Given the description of an element on the screen output the (x, y) to click on. 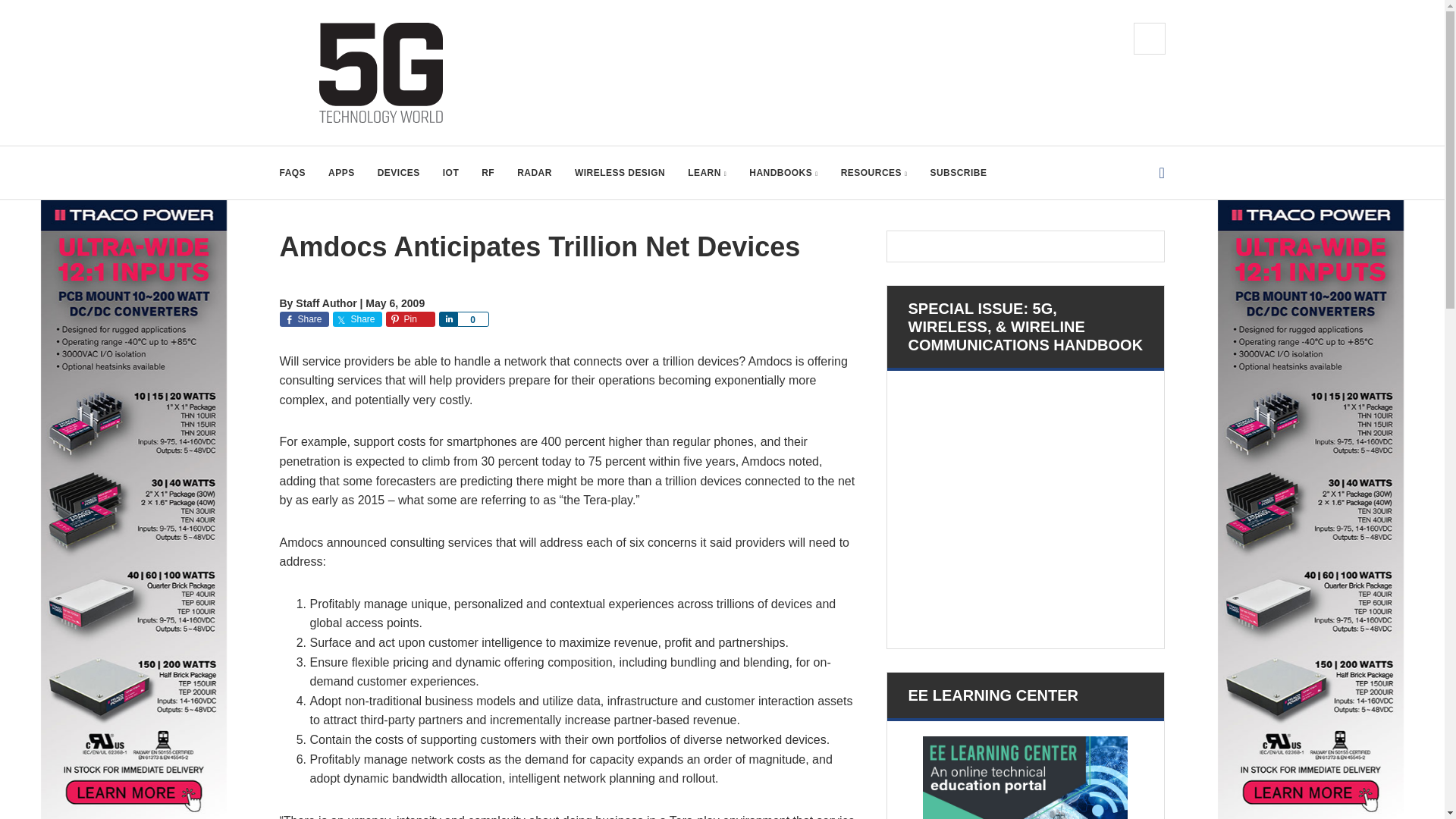
0 (472, 319)
Share (447, 319)
SUBSCRIBE (958, 172)
Share (356, 319)
Share (304, 319)
Pin (409, 319)
5G Technology World (380, 72)
HANDBOOKS (782, 172)
WIRELESS DESIGN (620, 172)
RESOURCES (874, 172)
Staff Author (325, 303)
